Given the description of an element on the screen output the (x, y) to click on. 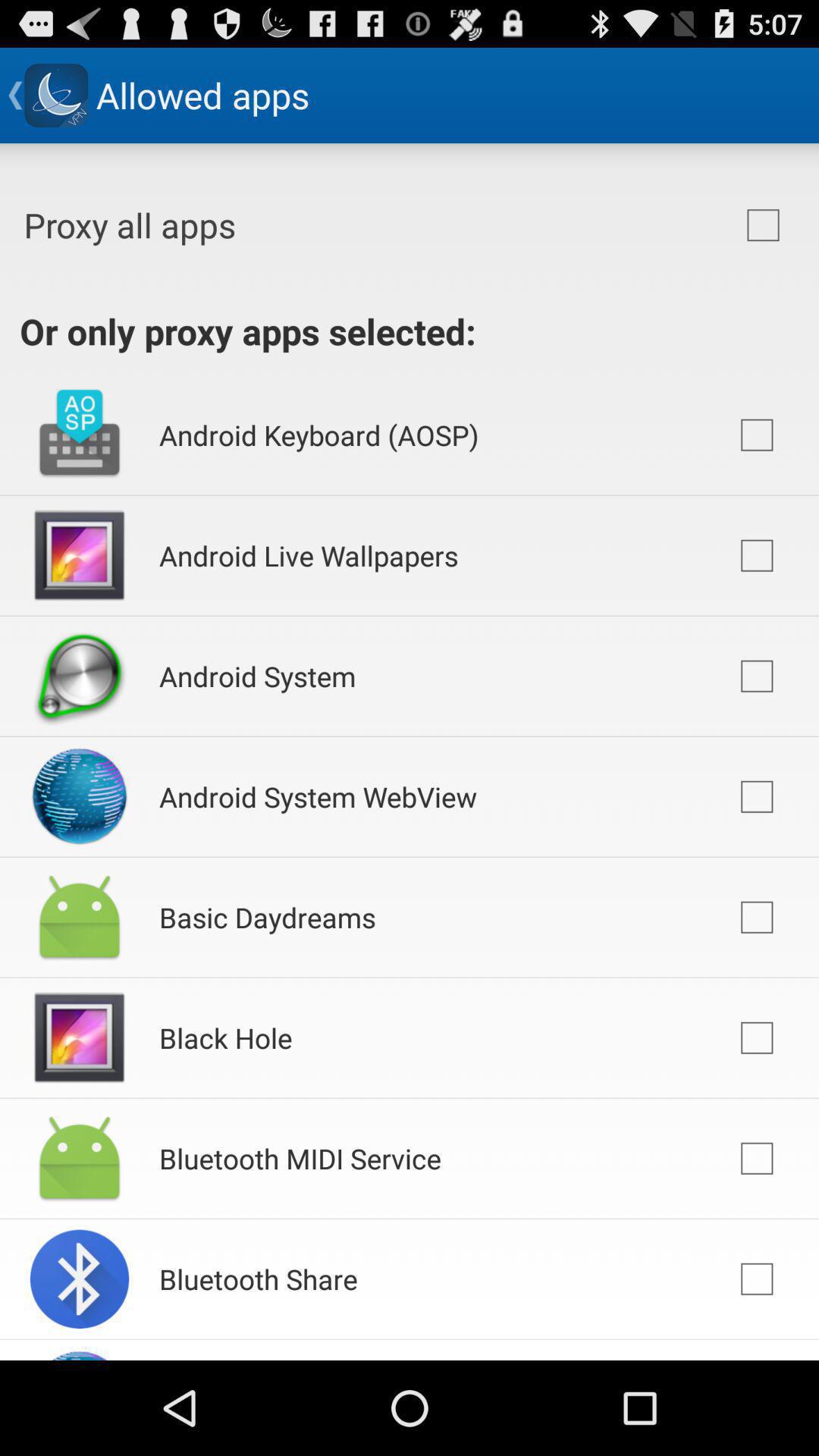
jump until black hole icon (225, 1037)
